Given the description of an element on the screen output the (x, y) to click on. 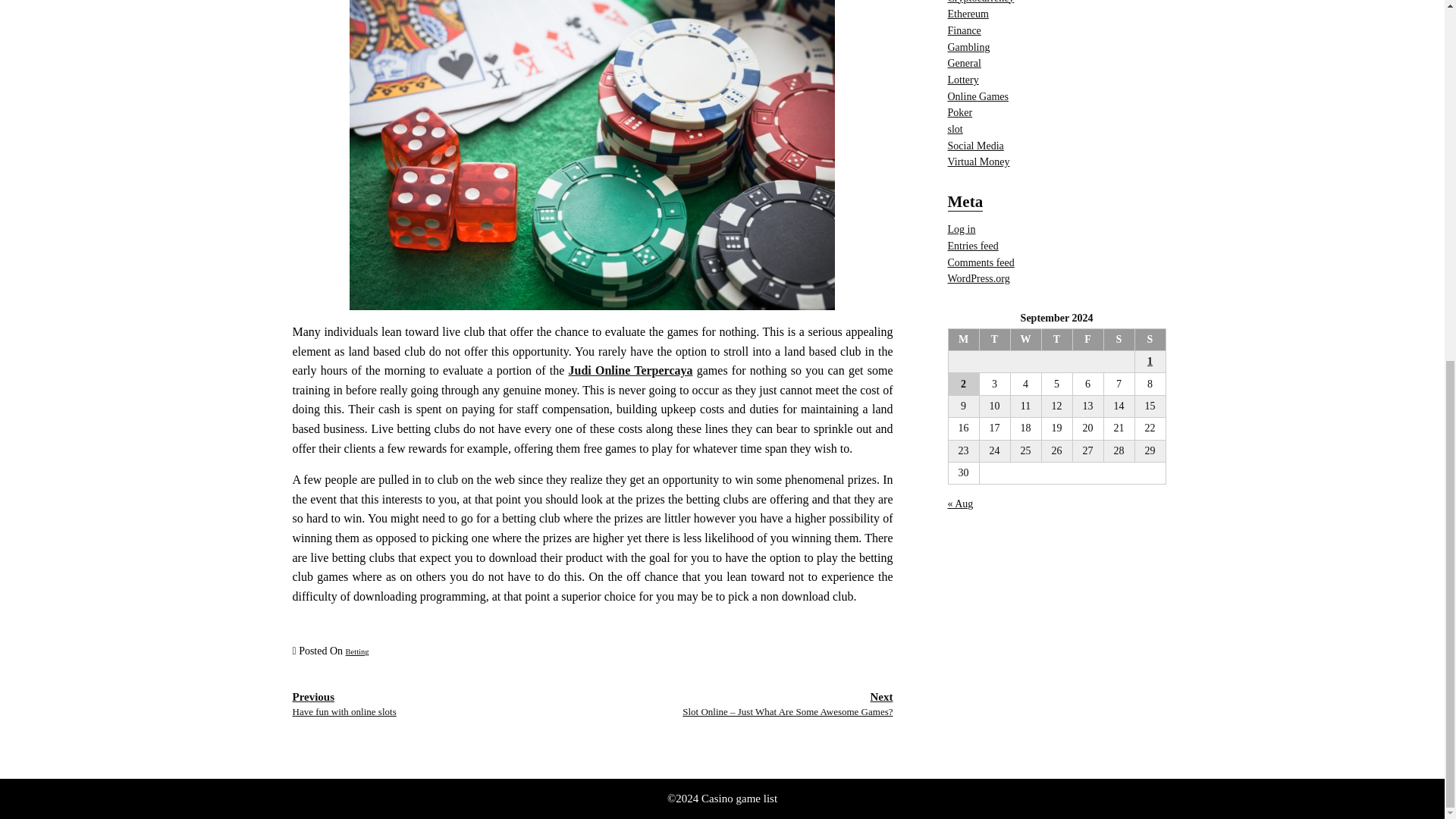
Poker (959, 112)
General (964, 62)
Sunday (1150, 339)
Judi Online Terpercaya (631, 369)
Betting (357, 651)
Thursday (1056, 339)
slot (954, 129)
Comments feed (980, 262)
Cryptocurrency (980, 2)
Finance (964, 30)
